Given the description of an element on the screen output the (x, y) to click on. 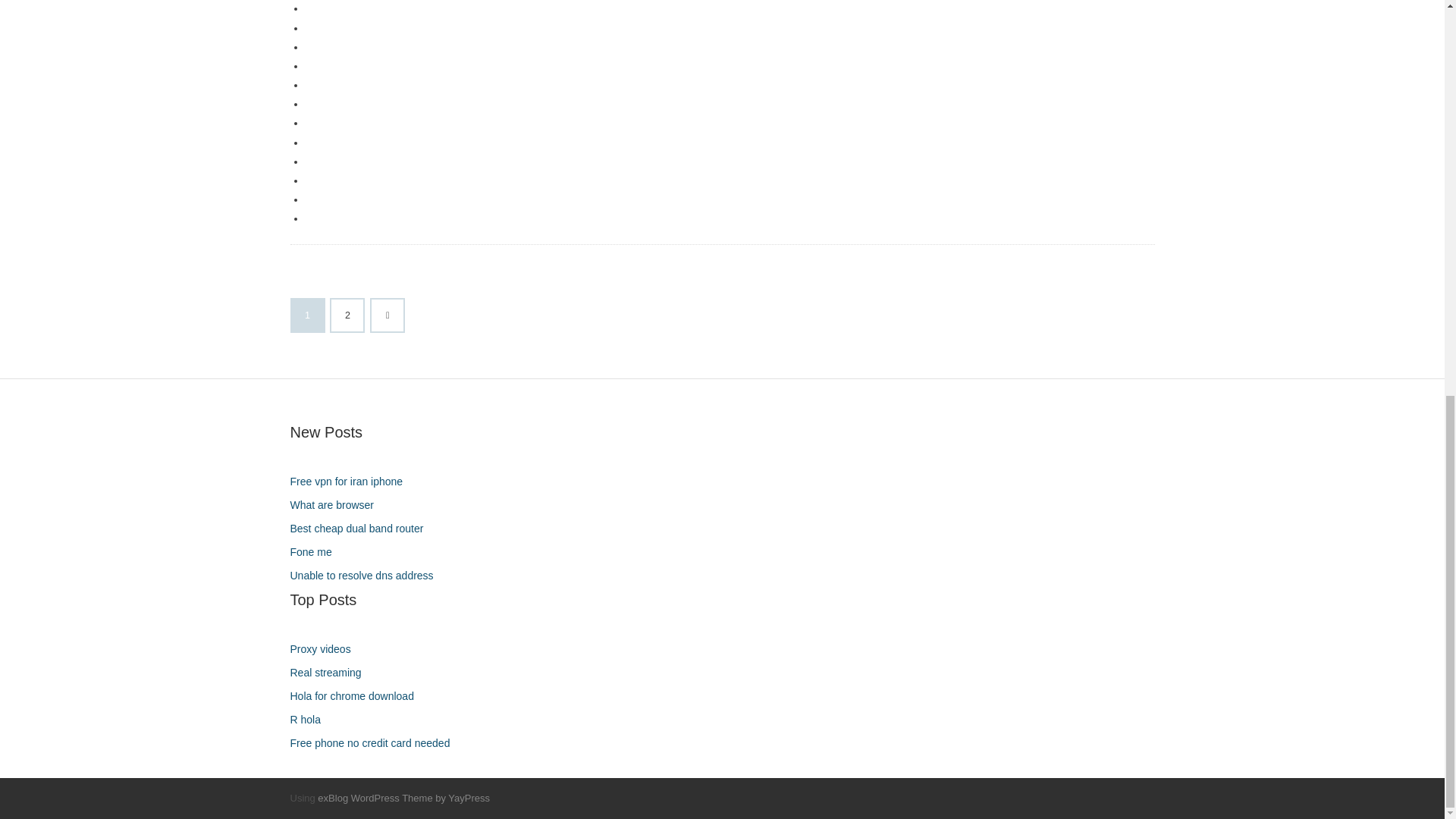
R hola (310, 720)
Real streaming (330, 672)
Free phone no credit card needed (375, 743)
Proxy videos (325, 649)
Unable to resolve dns address (366, 575)
What are browser (336, 505)
Hola for chrome download (357, 696)
Free vpn for iran iphone (351, 481)
exBlog WordPress Theme by YayPress (403, 797)
Fone me (315, 552)
